Given the description of an element on the screen output the (x, y) to click on. 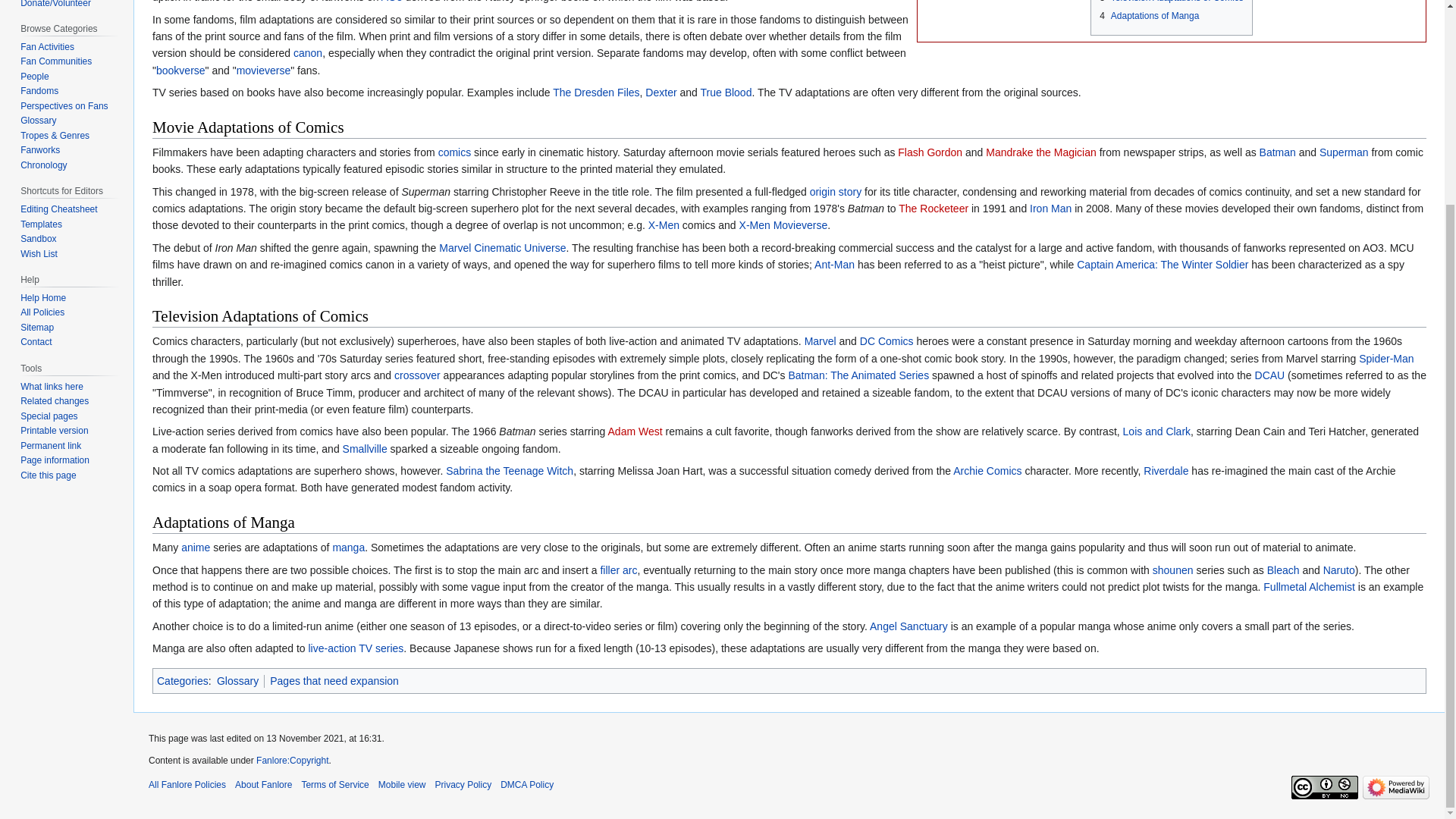
Dexter (661, 92)
origin story (835, 191)
bookverse (180, 70)
Marvel Cinematic Universe (502, 247)
AO3 (392, 1)
Flash Gordon (930, 152)
The Dresden Files (596, 92)
X-Men Movieverse (783, 224)
canon (307, 52)
Mandrake the Magician (1040, 152)
The Dresden Files (596, 92)
Dexter (661, 92)
Canon (307, 52)
3 Television Adaptations of Comics (1170, 1)
Batman (1277, 152)
